Given the description of an element on the screen output the (x, y) to click on. 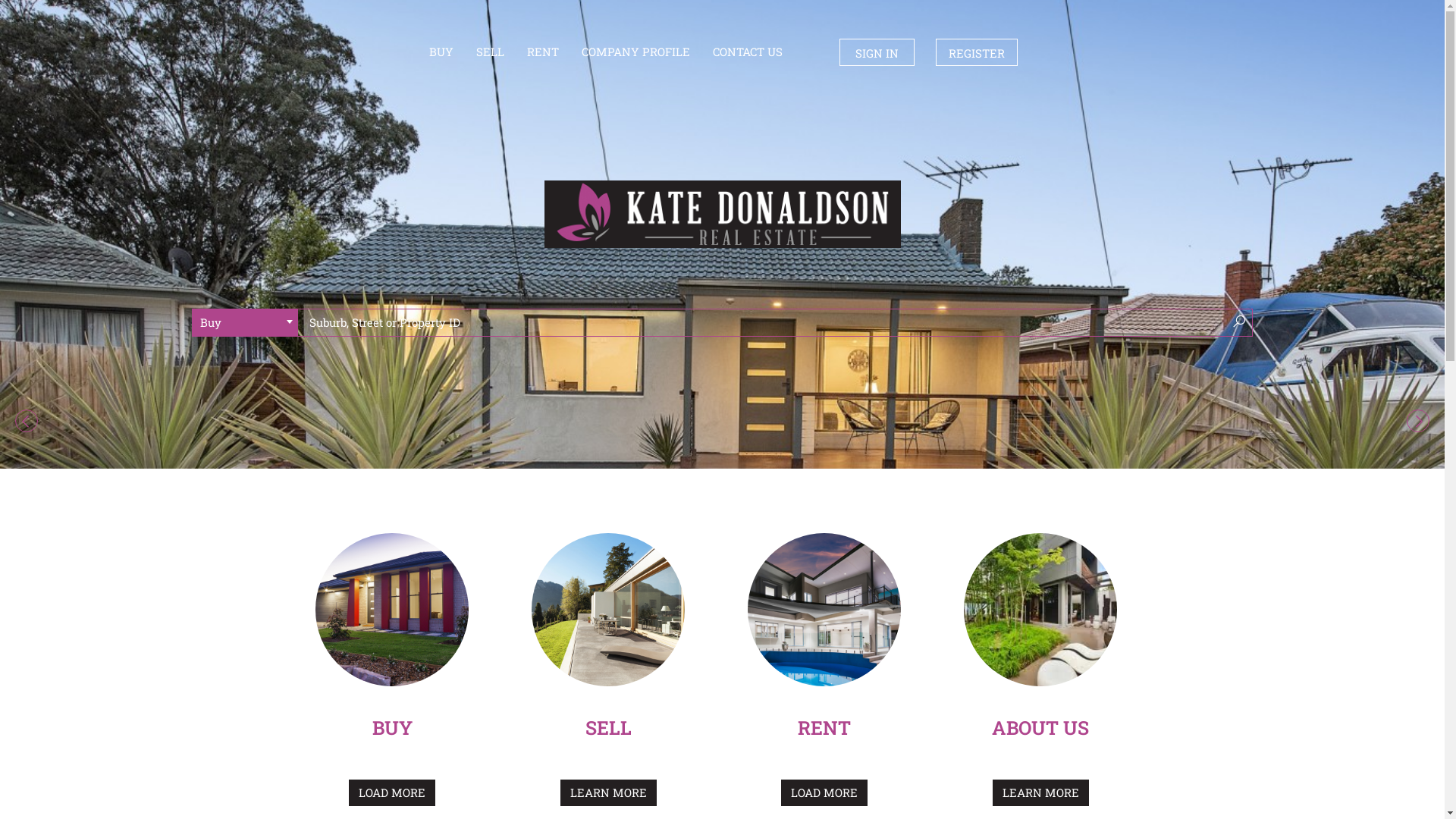
LOAD MORE Element type: text (824, 792)
COMPANY PROFILE Element type: text (635, 51)
RENT Element type: hover (823, 609)
BUY Element type: hover (391, 609)
REGISTER Element type: text (976, 51)
SELL Element type: text (489, 51)
ABOUT US Element type: text (1040, 729)
LEARN MORE Element type: text (607, 792)
LOAD MORE Element type: text (391, 792)
BUY Element type: text (440, 51)
SELL Element type: text (608, 729)
SELL Element type: hover (607, 609)
ABOUT US Element type: hover (1040, 609)
LEARN MORE Element type: text (1039, 792)
RENT Element type: text (823, 729)
CONTACT US Element type: text (747, 51)
BUY Element type: text (391, 729)
SIGN IN Element type: text (876, 51)
RENT Element type: text (542, 51)
